Given the description of an element on the screen output the (x, y) to click on. 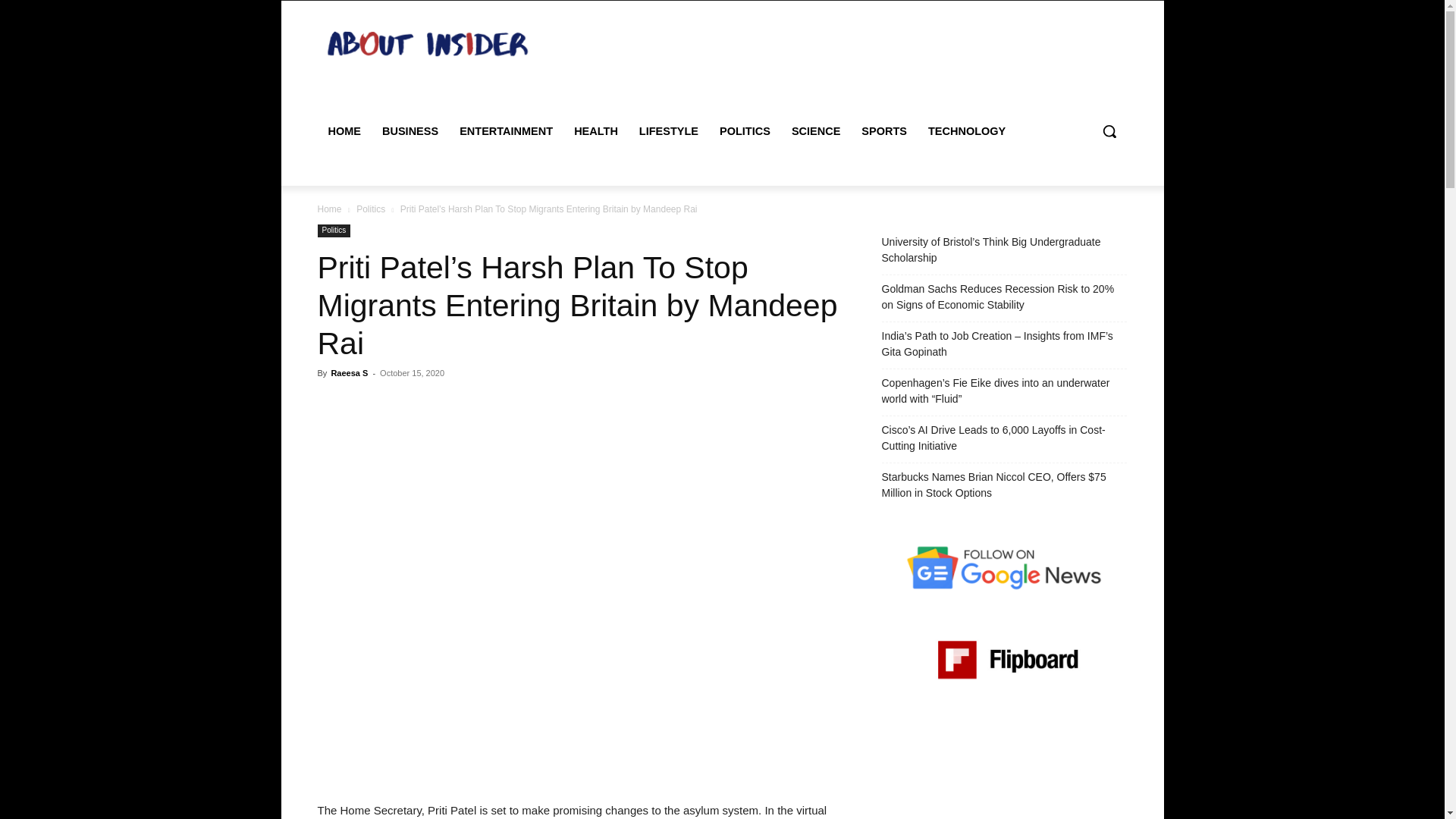
BUSINESS (409, 131)
Politics (333, 230)
ENTERTAINMENT (505, 131)
SPORTS (883, 131)
HEALTH (595, 131)
Raeesa S (349, 372)
POLITICS (744, 131)
HOME (344, 131)
Politics (370, 208)
View all posts in Politics (370, 208)
